Given the description of an element on the screen output the (x, y) to click on. 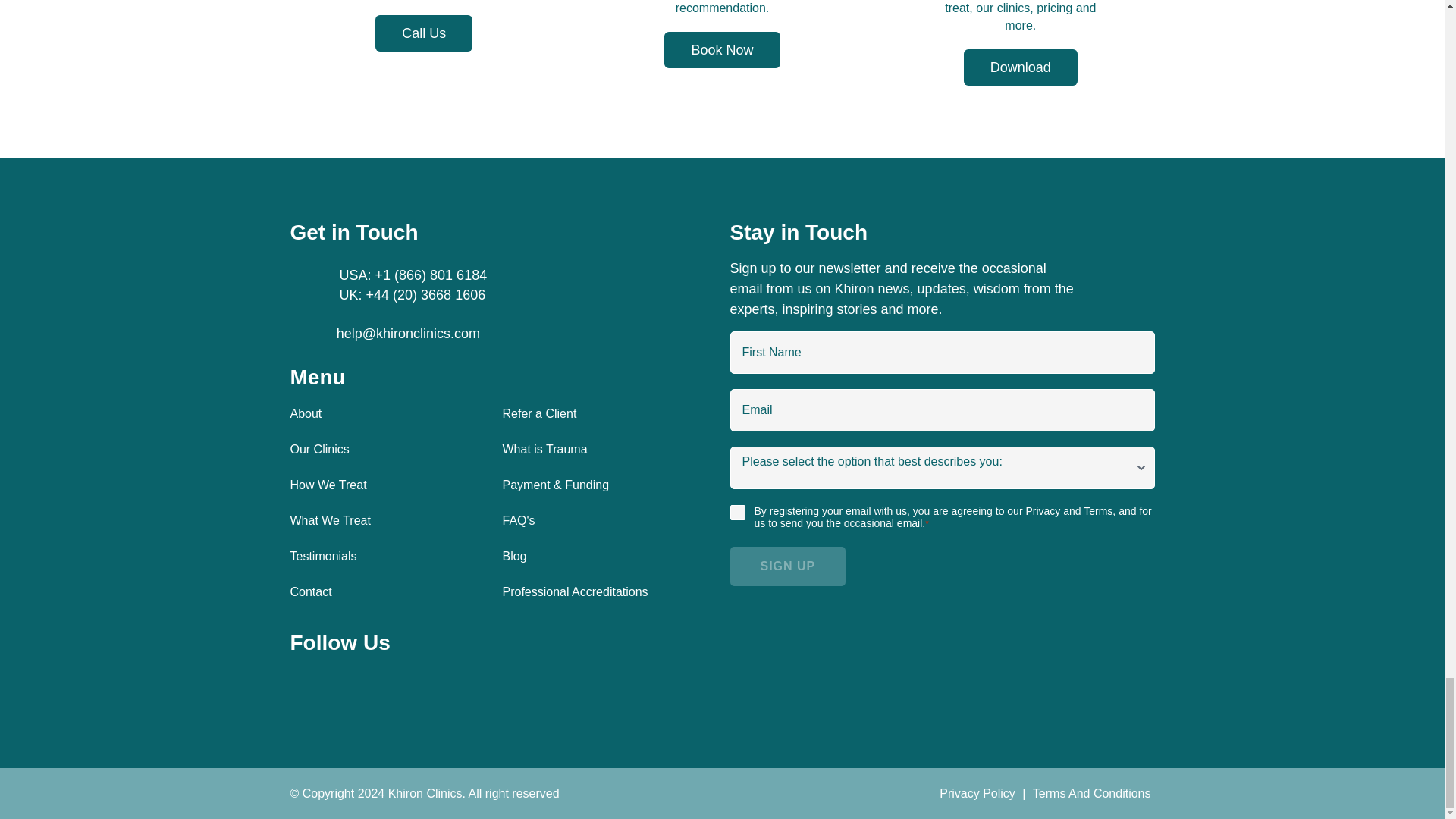
Sign Up (787, 565)
1 (736, 512)
